Given the description of an element on the screen output the (x, y) to click on. 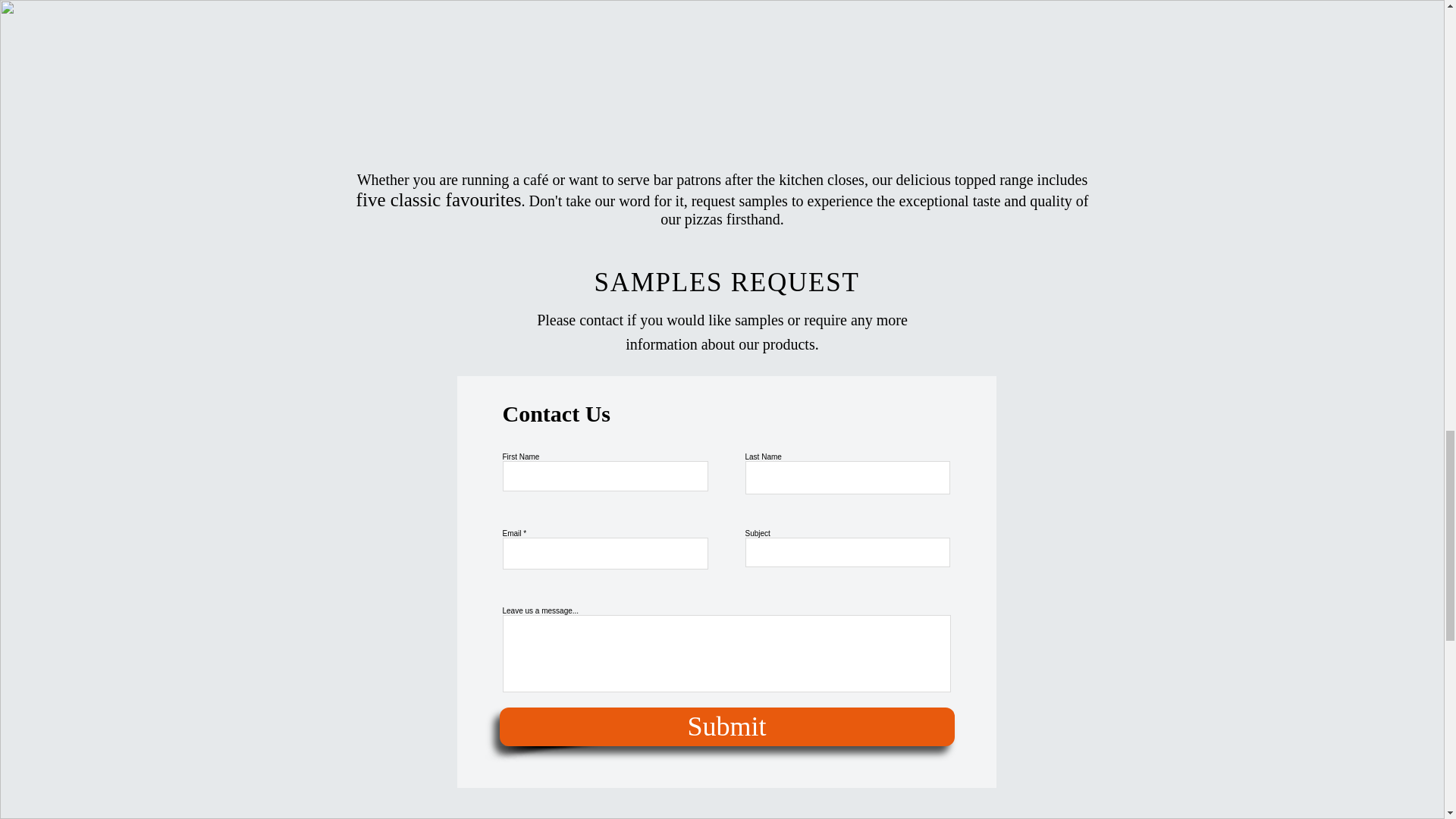
Submit (726, 726)
